Given the description of an element on the screen output the (x, y) to click on. 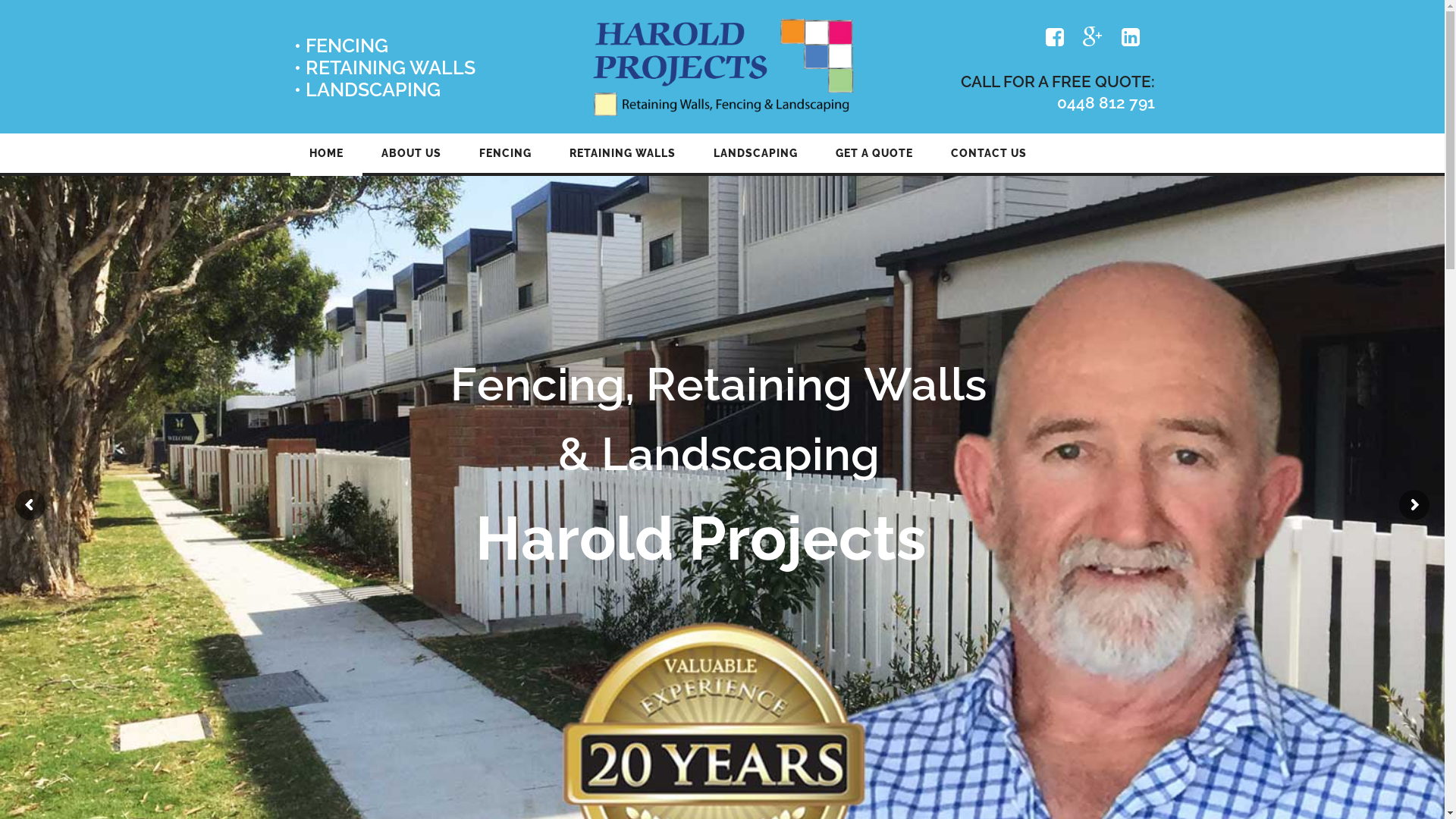
ABOUT US Element type: text (411, 152)
HOME Element type: text (325, 152)
GET A QUOTE Element type: text (873, 152)
RETAINING WALLS Element type: text (622, 152)
CONTACT US Element type: text (987, 152)
0448 812 791 Element type: text (1105, 102)
LANDSCAPING Element type: text (755, 152)
FENCING Element type: text (504, 152)
